Given the description of an element on the screen output the (x, y) to click on. 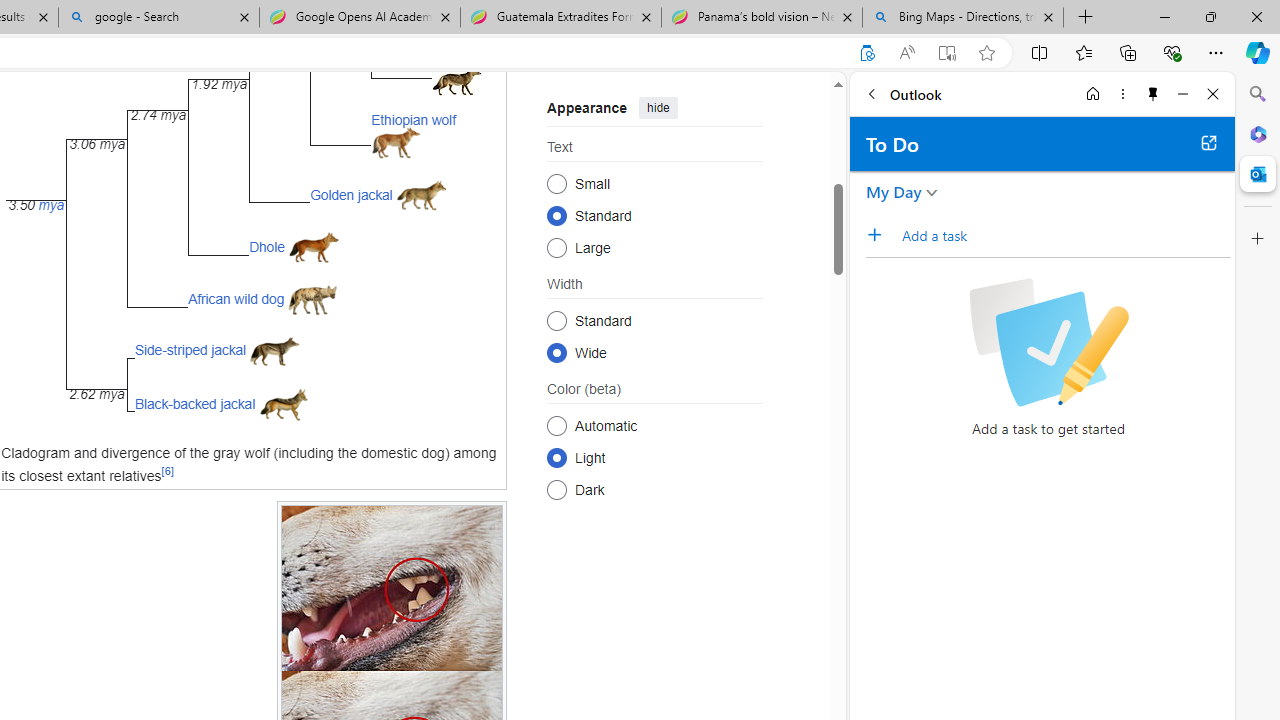
Light (556, 457)
Support Wikipedia? (867, 53)
Dhole (267, 246)
Class: mw-file-description (283, 404)
Open in new tab (1208, 142)
Ethiopian wolf (413, 120)
Small (556, 182)
African wild dog (236, 298)
